Given the description of an element on the screen output the (x, y) to click on. 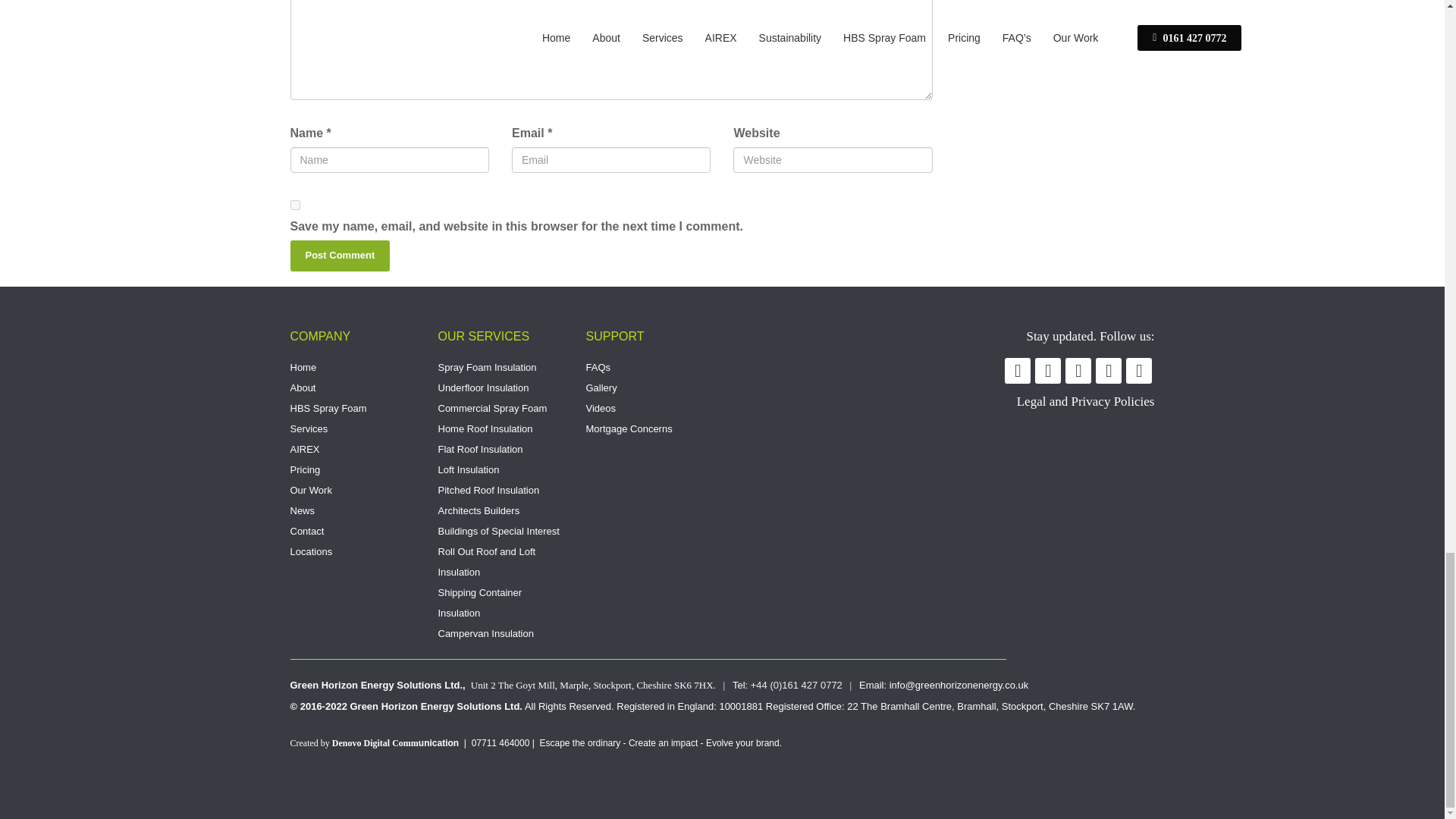
yes (294, 204)
Facebook (1138, 370)
Linkedin (647, 397)
instragram (1048, 370)
YouTube (1077, 370)
Post Comment (1108, 370)
Twitter (339, 255)
